Given the description of an element on the screen output the (x, y) to click on. 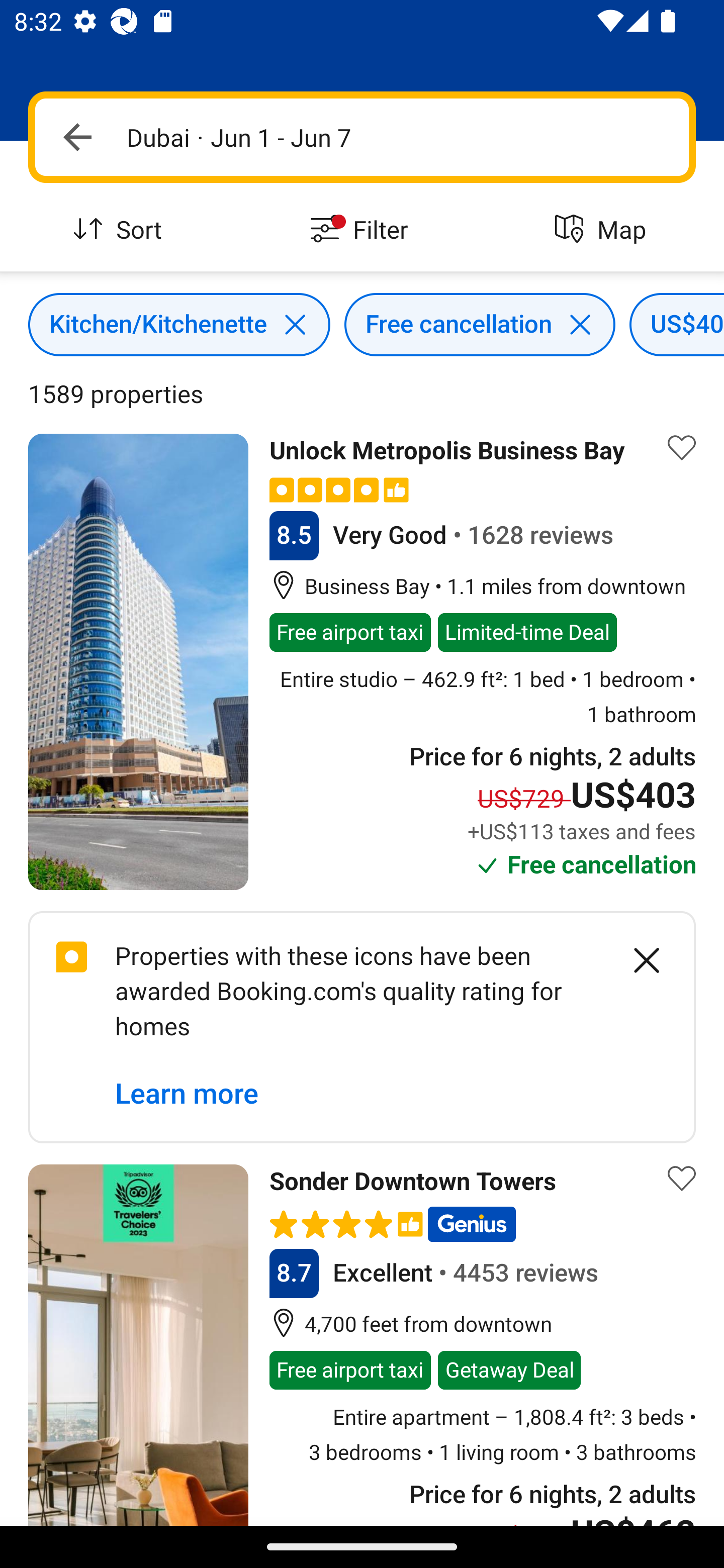
Navigate up Dubai · Jun 1 - Jun 7 (362, 136)
Navigate up (77, 136)
Sort (120, 230)
Filter (361, 230)
Map (603, 230)
Save property to list (681, 447)
Clear (635, 959)
Learn more (187, 1094)
Save property to list (681, 1178)
